Given the description of an element on the screen output the (x, y) to click on. 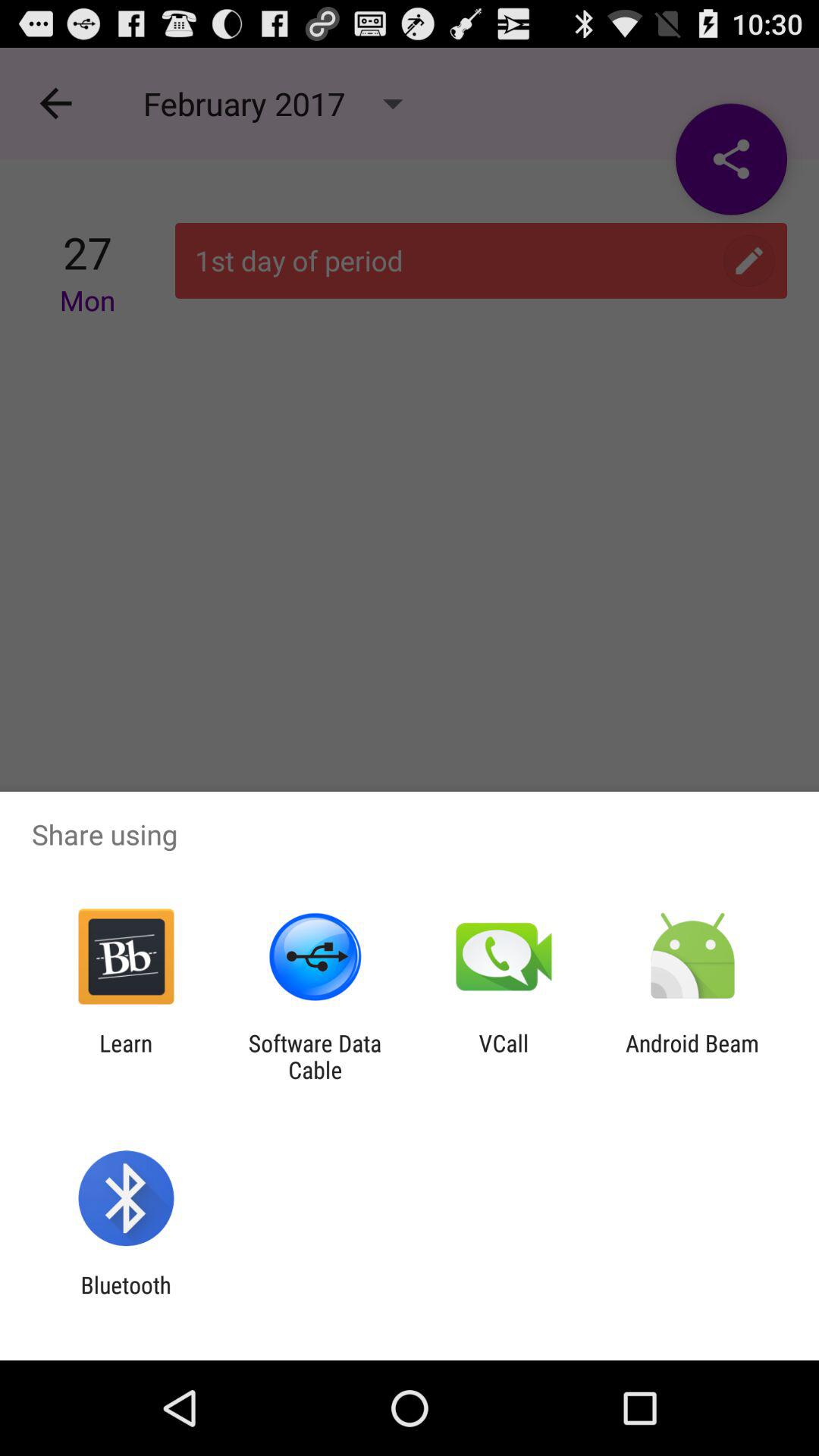
tap bluetooth (125, 1298)
